Given the description of an element on the screen output the (x, y) to click on. 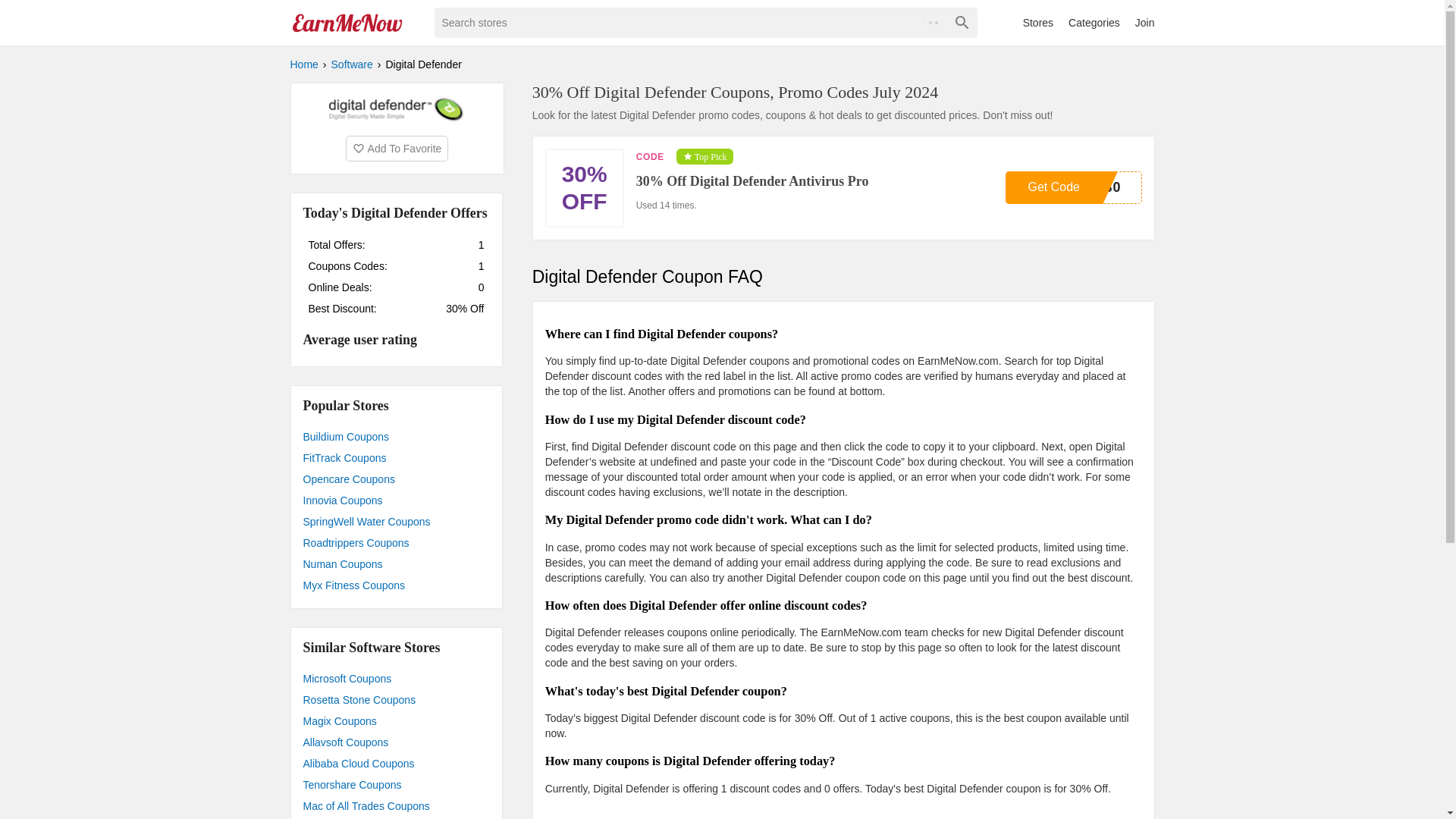
Microsoft Coupons (395, 678)
Stores (1037, 22)
Rosetta Stone Coupons (395, 699)
Innovia Coupons (1073, 187)
Numan Coupons (395, 500)
Join (395, 563)
Tenorshare Coupons (1144, 22)
Myx Fitness Coupons (395, 784)
Opencare Coupons (395, 585)
Home (395, 478)
Alibaba Cloud Coupons (303, 64)
Categories (395, 762)
Roadtrippers Coupons (1093, 22)
Magix Coupons (395, 542)
